Given the description of an element on the screen output the (x, y) to click on. 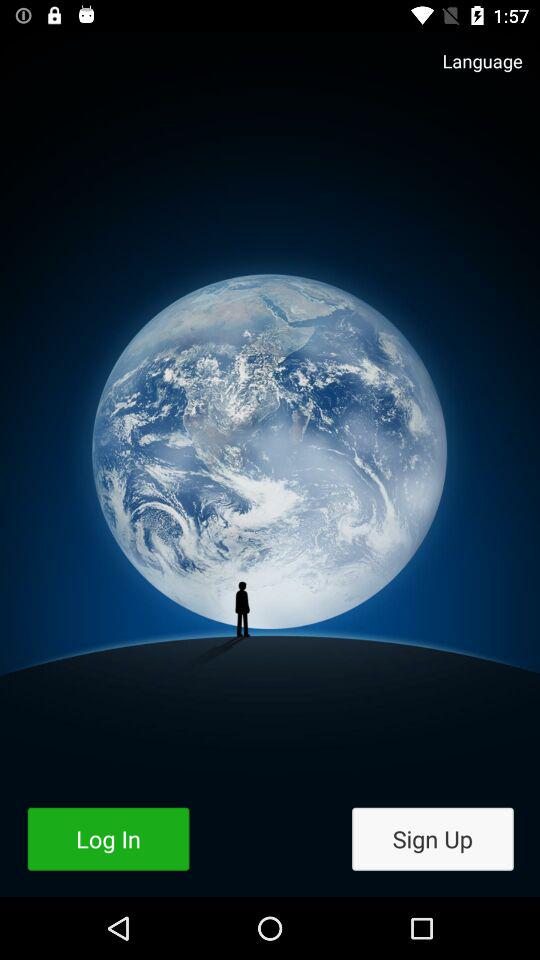
turn off item below the language item (432, 838)
